Given the description of an element on the screen output the (x, y) to click on. 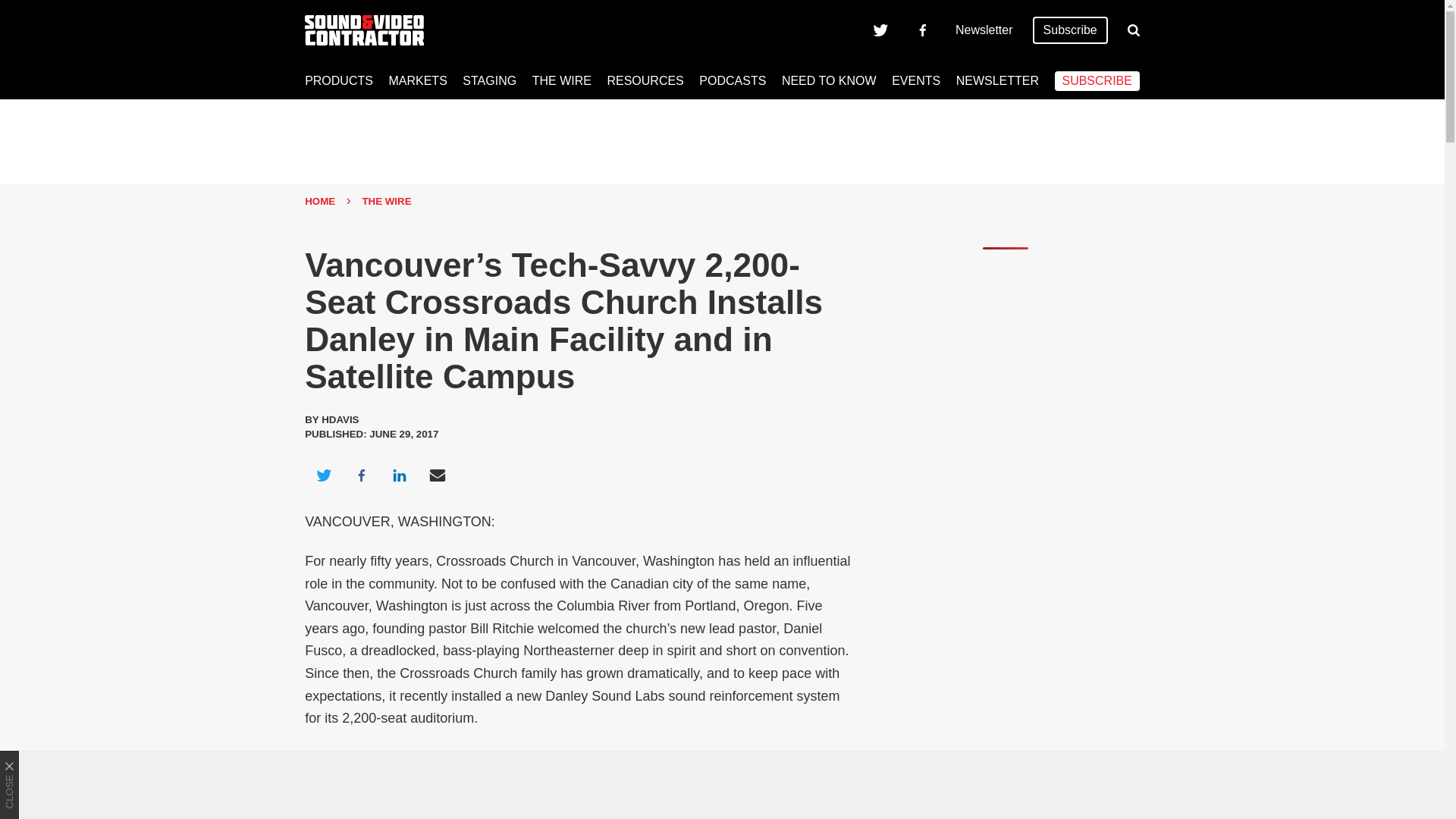
Share on Facebook (361, 475)
Share via Email (438, 475)
Share on Twitter (323, 475)
Share on LinkedIn (399, 475)
